Given the description of an element on the screen output the (x, y) to click on. 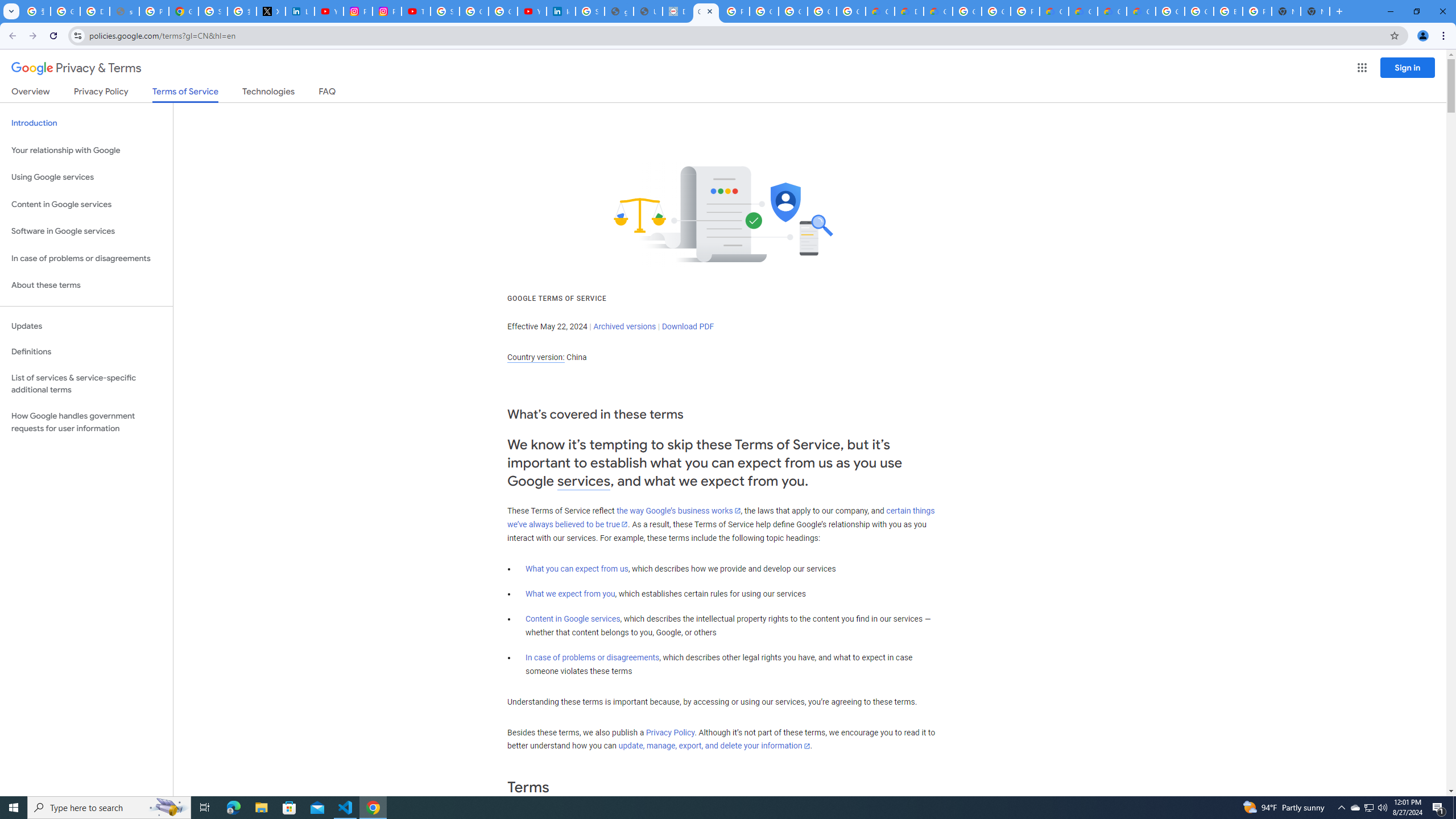
Your relationship with Google (86, 150)
Google Cloud Pricing Calculator (1082, 11)
Gemini for Business and Developers | Google Cloud (938, 11)
Data Privacy Framework (677, 11)
